Given the description of an element on the screen output the (x, y) to click on. 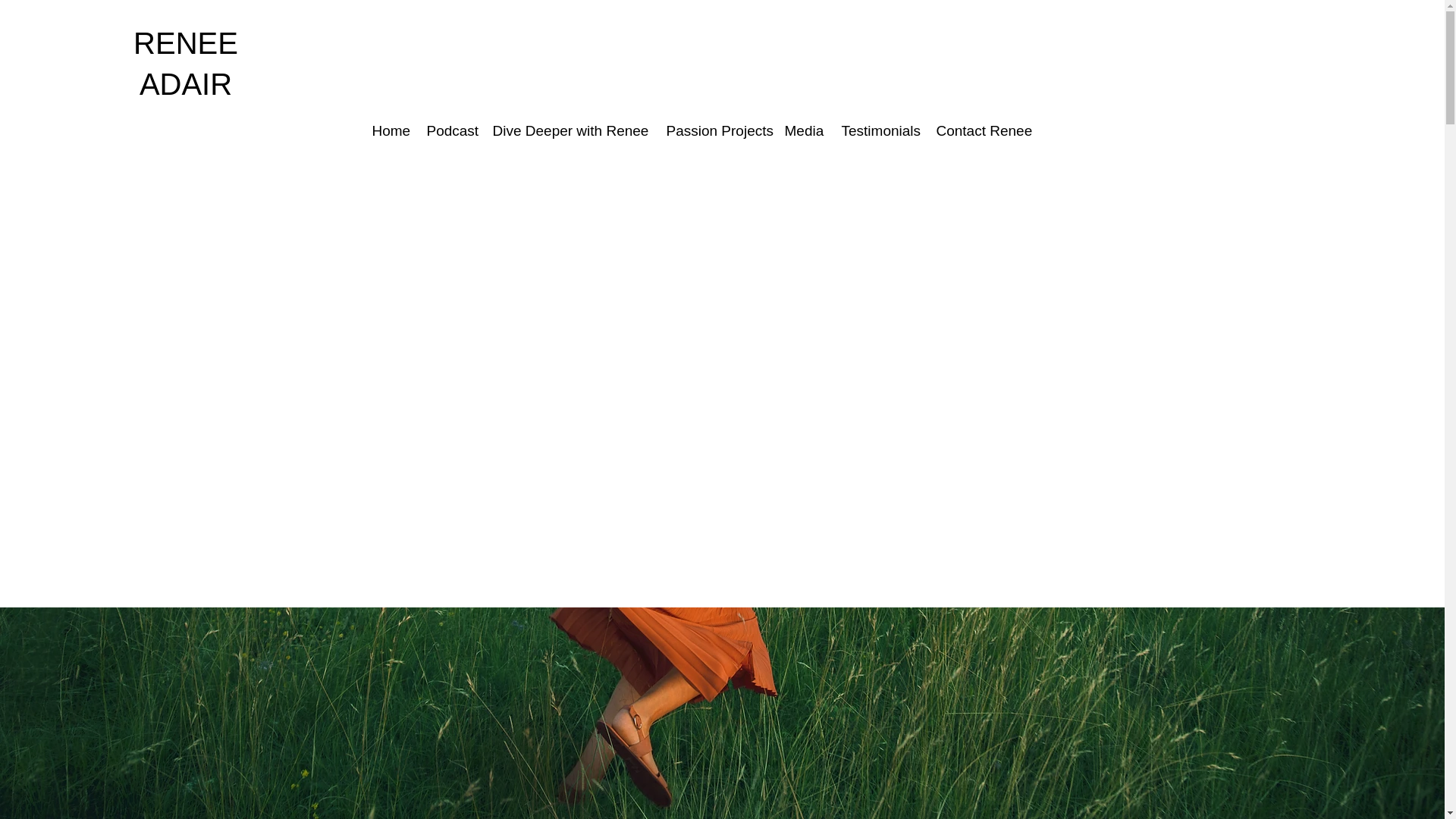
Testimonials (880, 128)
Home (391, 128)
Contact Renee (983, 128)
Media (804, 128)
Dive Deeper with Renee (571, 128)
RENEE ADAIR (185, 63)
